Given the description of an element on the screen output the (x, y) to click on. 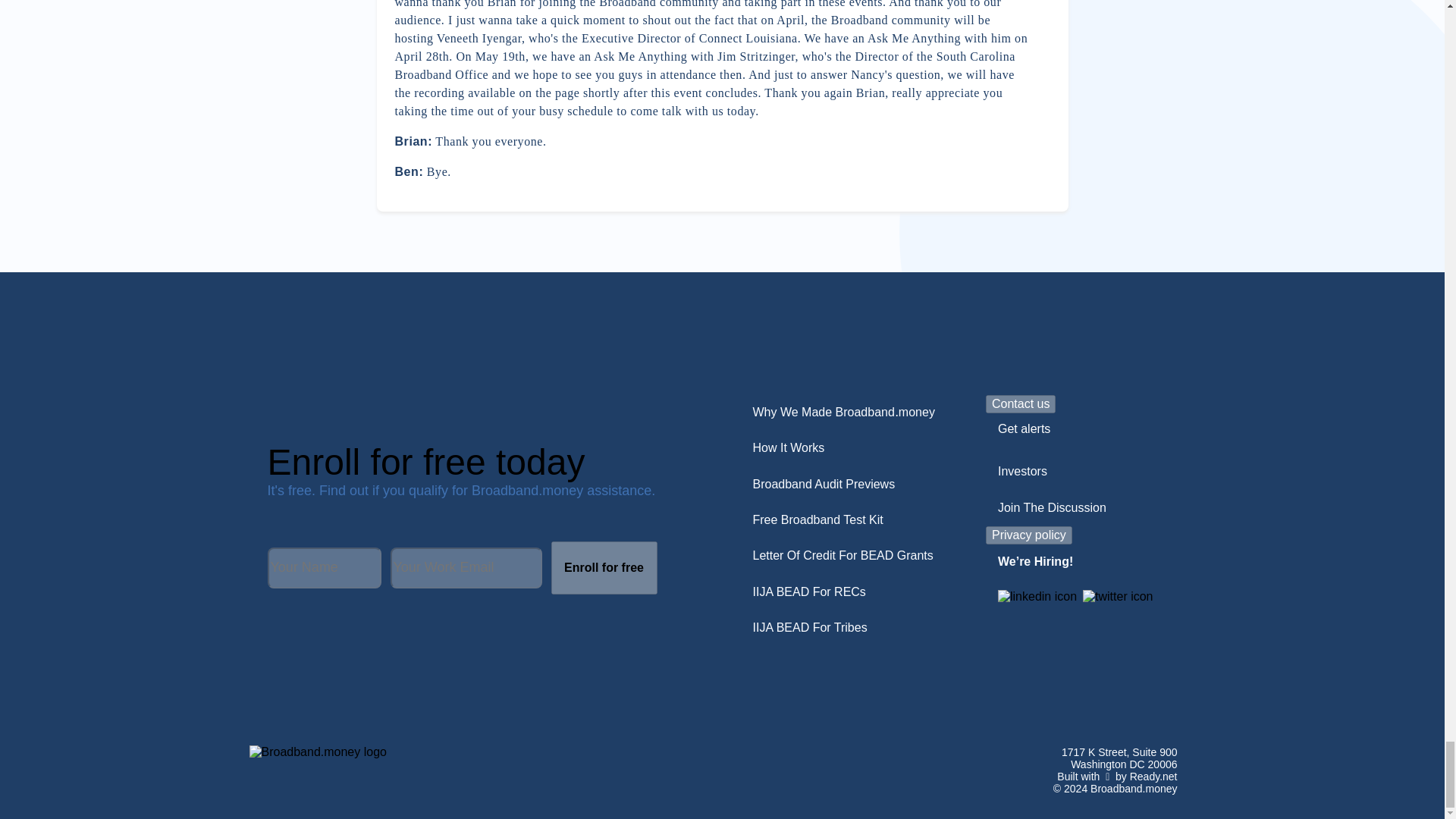
Free Broadband Test Kit (817, 519)
How It Works (787, 448)
Investors (1022, 471)
IIJA BEAD For Tribes (809, 627)
IIJA BEAD For RECs (808, 591)
Letter Of Credit For BEAD Grants (841, 555)
Privacy policy (1028, 535)
Broadband Audit Previews (823, 484)
Enroll for free (603, 567)
Join The Discussion (1051, 507)
